Given the description of an element on the screen output the (x, y) to click on. 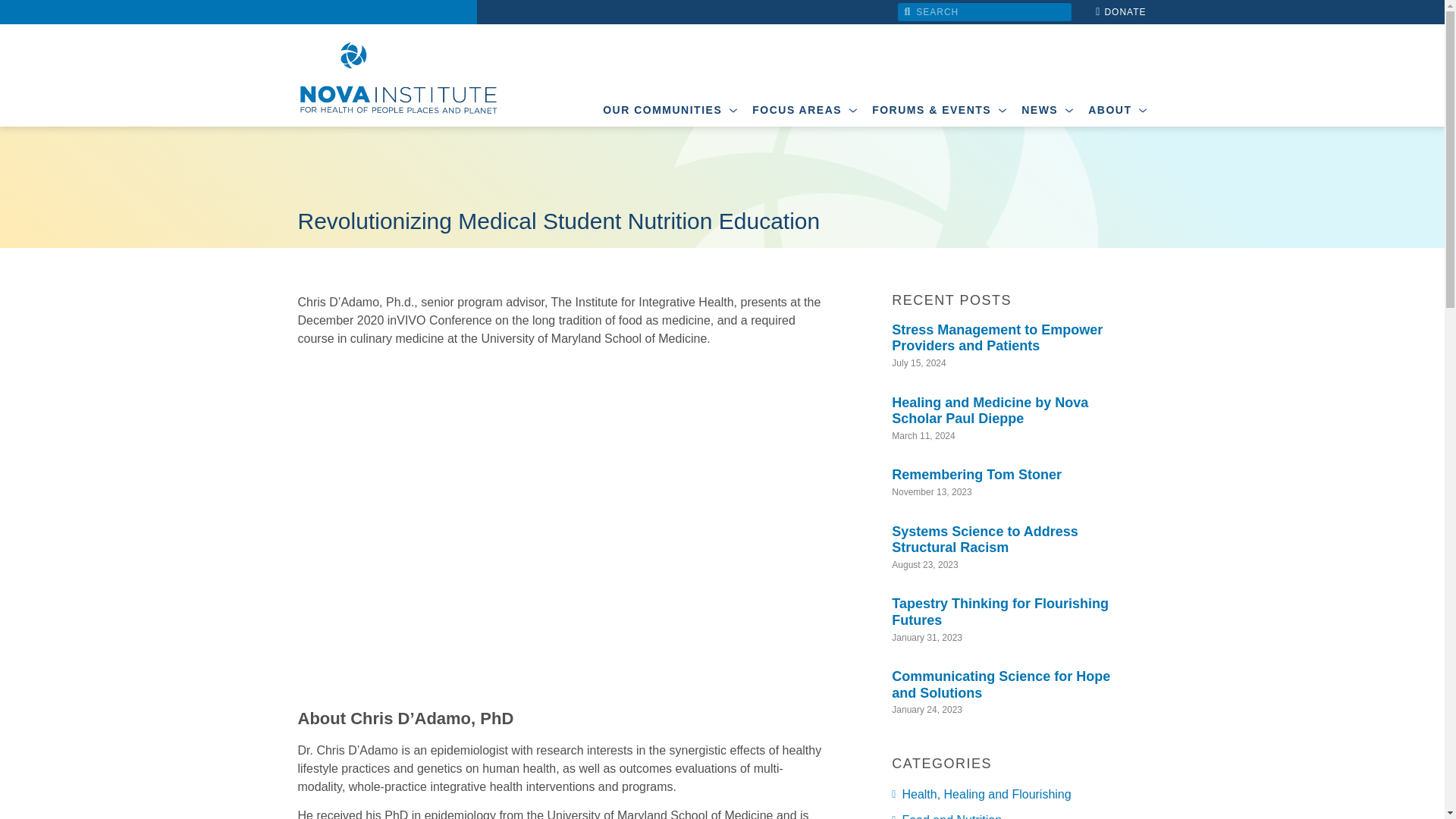
FOCUS AREAS (804, 106)
OUR COMMUNITIES (669, 106)
DONATE (1117, 11)
